Given the description of an element on the screen output the (x, y) to click on. 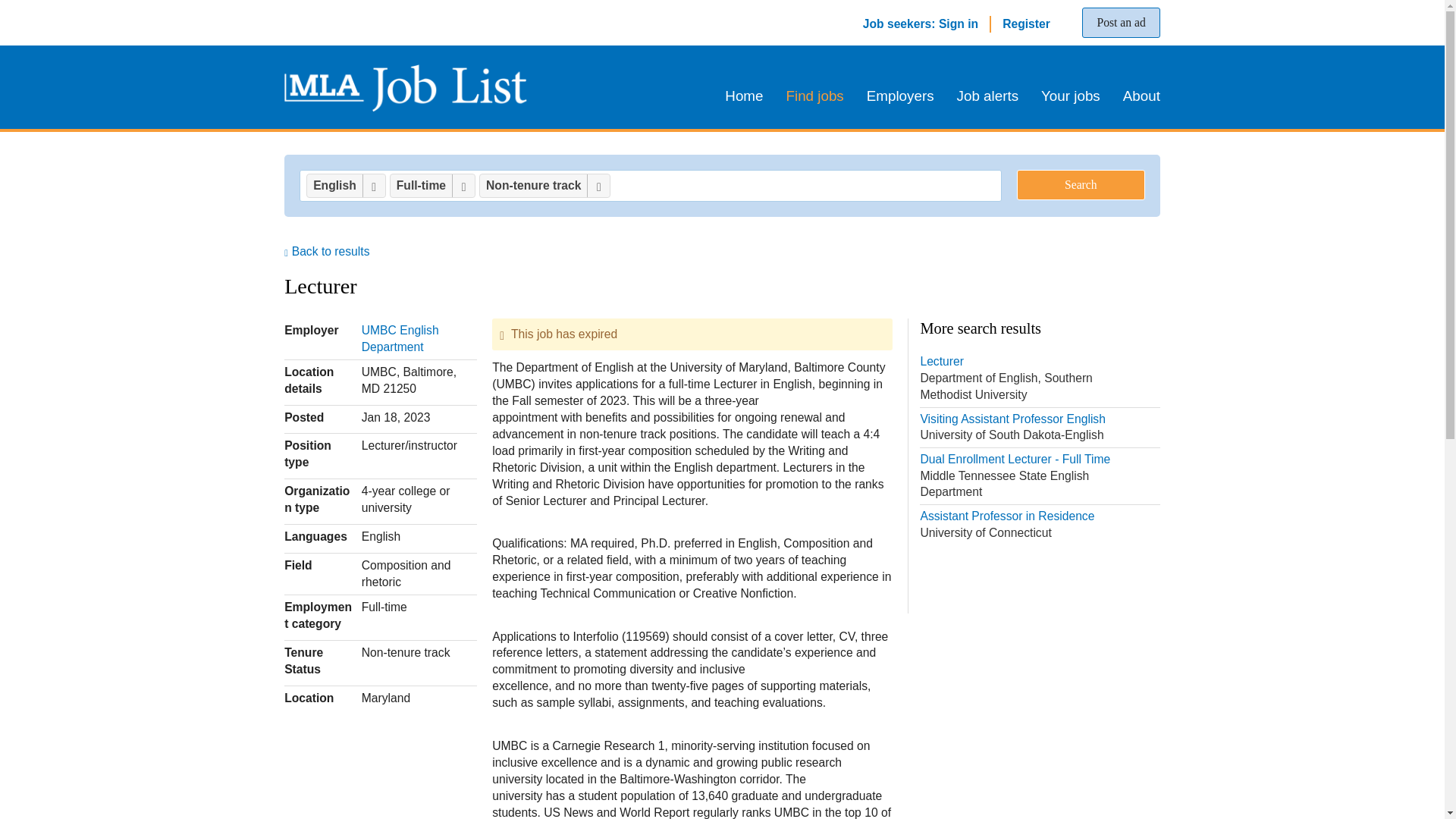
Dual Enrollment Lecturer - Full Time (1039, 476)
Your jobs (1070, 95)
Find jobs (814, 95)
Home (749, 95)
Employers (900, 95)
Lecturer (1039, 378)
Post an ad (1039, 524)
Job seekers: Sign in (1119, 22)
Back to results (920, 23)
About (326, 250)
UMBC English Department (1136, 95)
Search (400, 337)
